Given the description of an element on the screen output the (x, y) to click on. 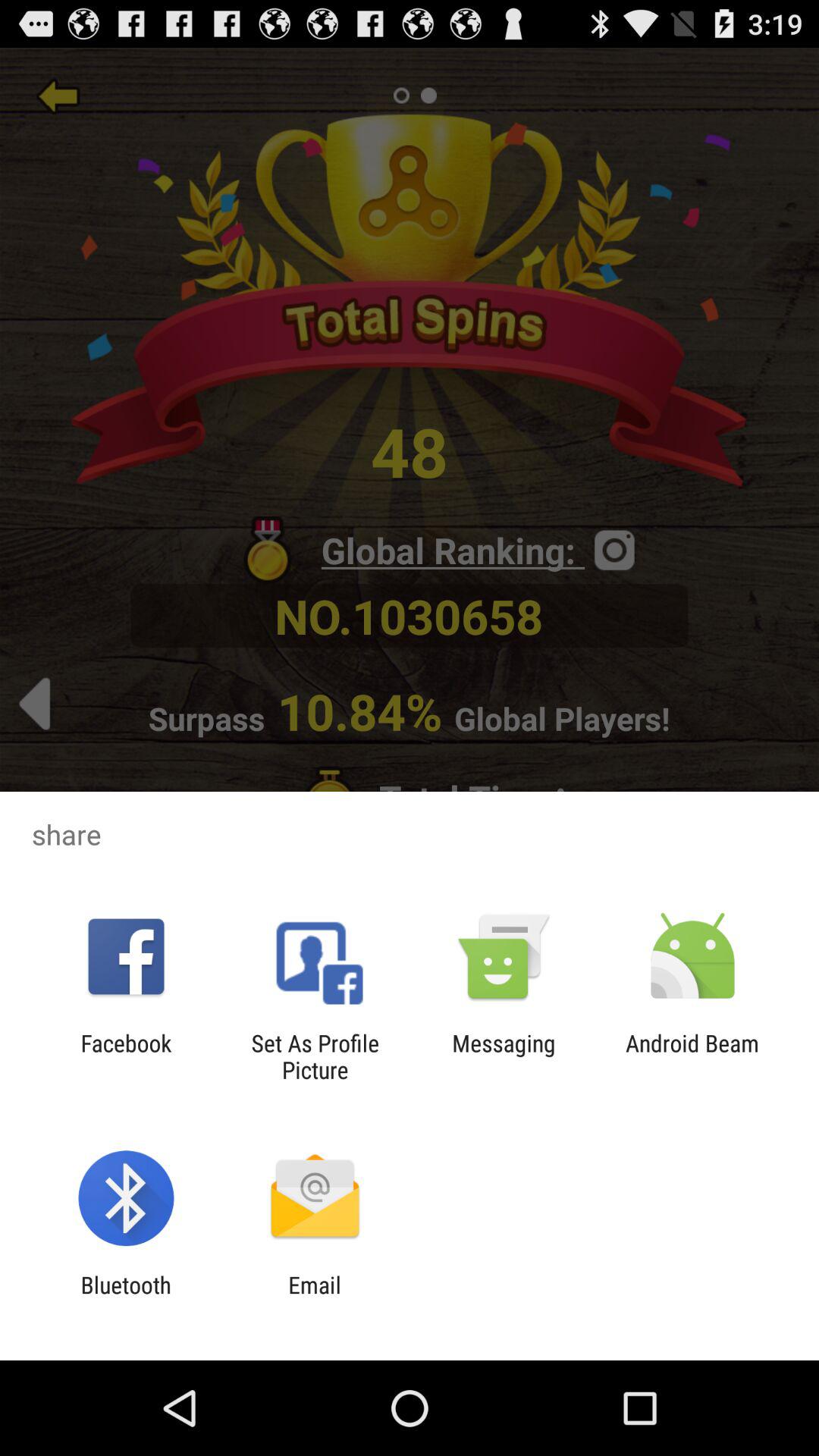
swipe until the set as profile icon (314, 1056)
